Given the description of an element on the screen output the (x, y) to click on. 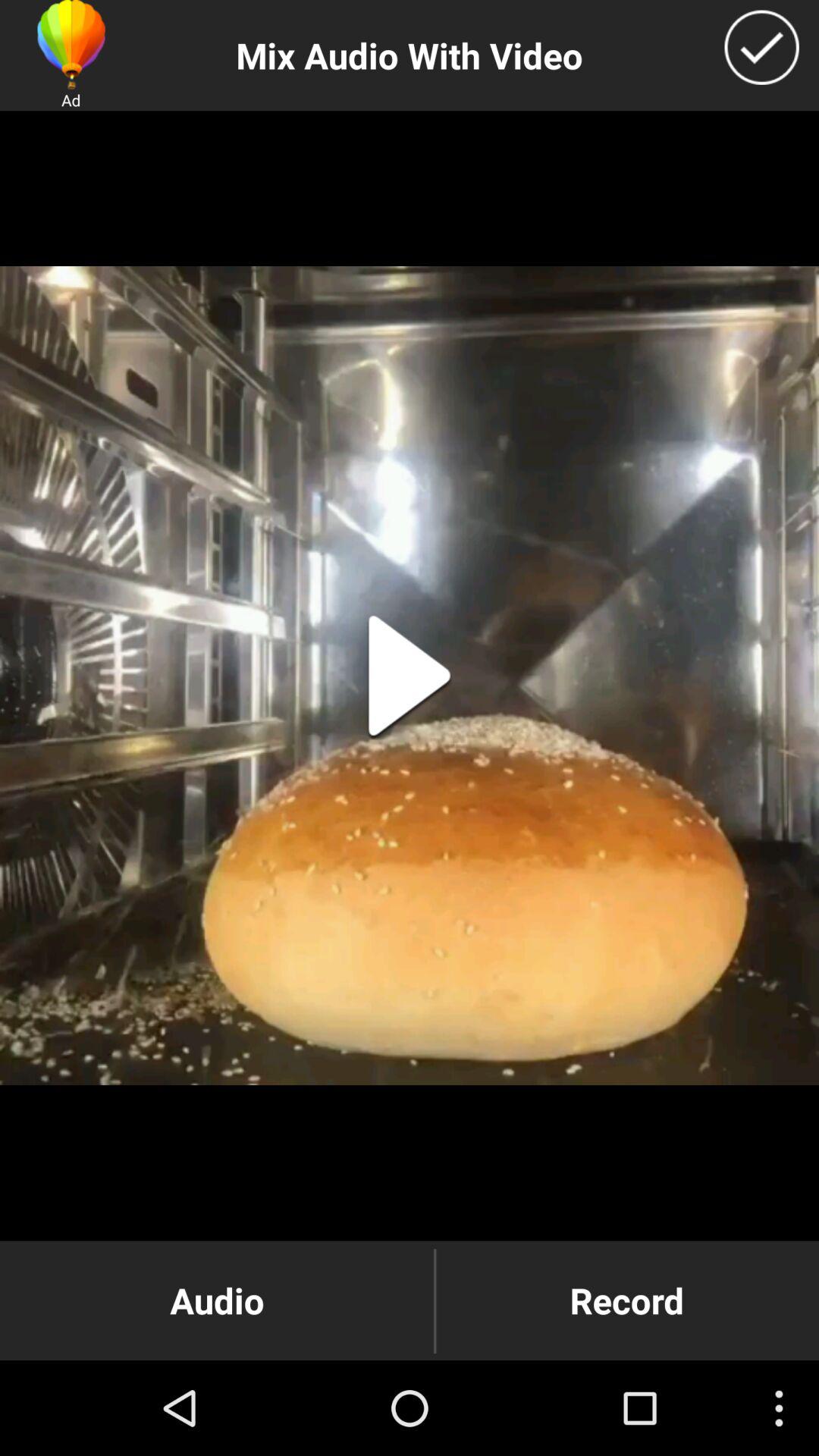
done (761, 47)
